Given the description of an element on the screen output the (x, y) to click on. 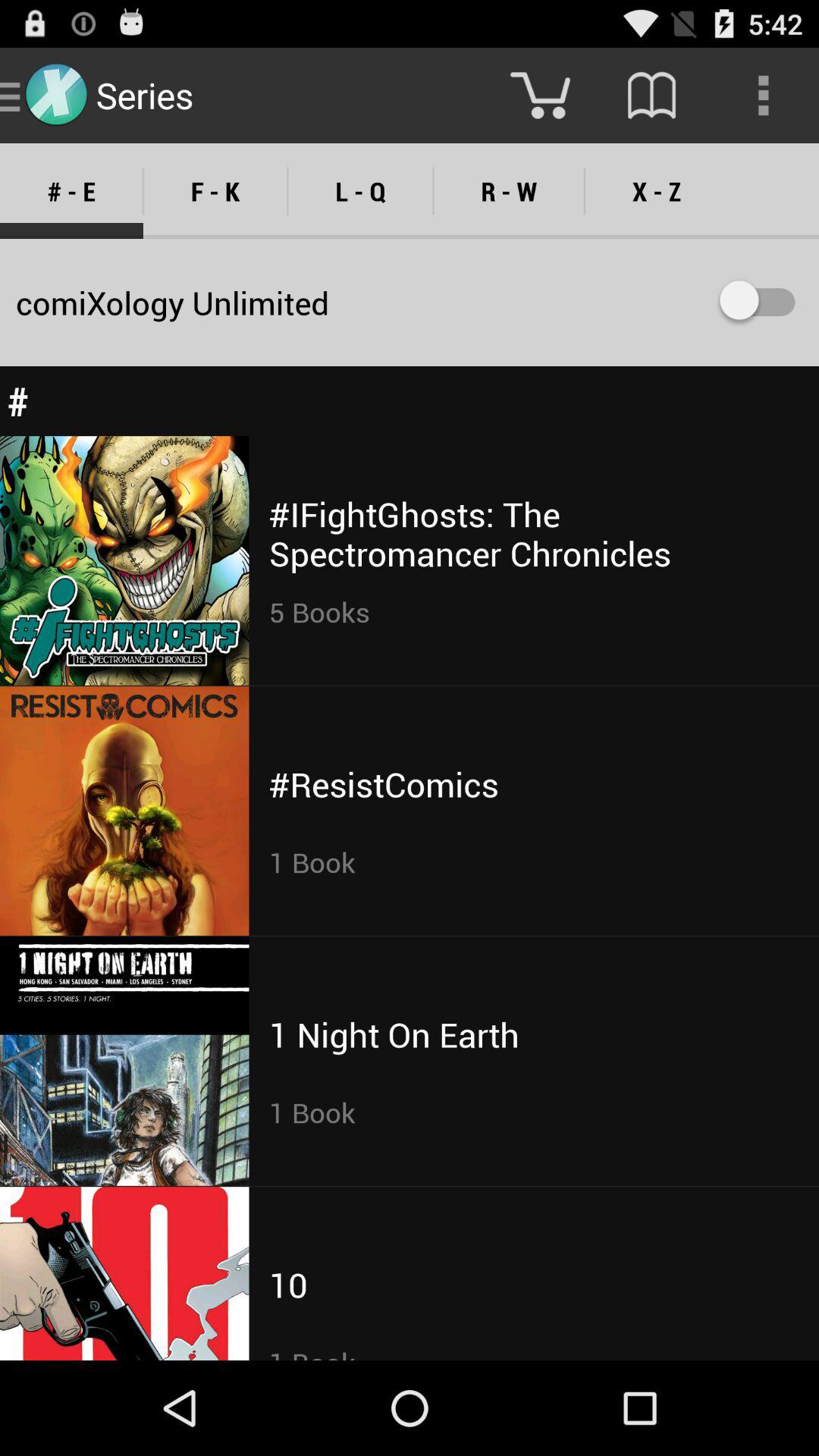
launch the icon above the 1 book icon (288, 1284)
